Given the description of an element on the screen output the (x, y) to click on. 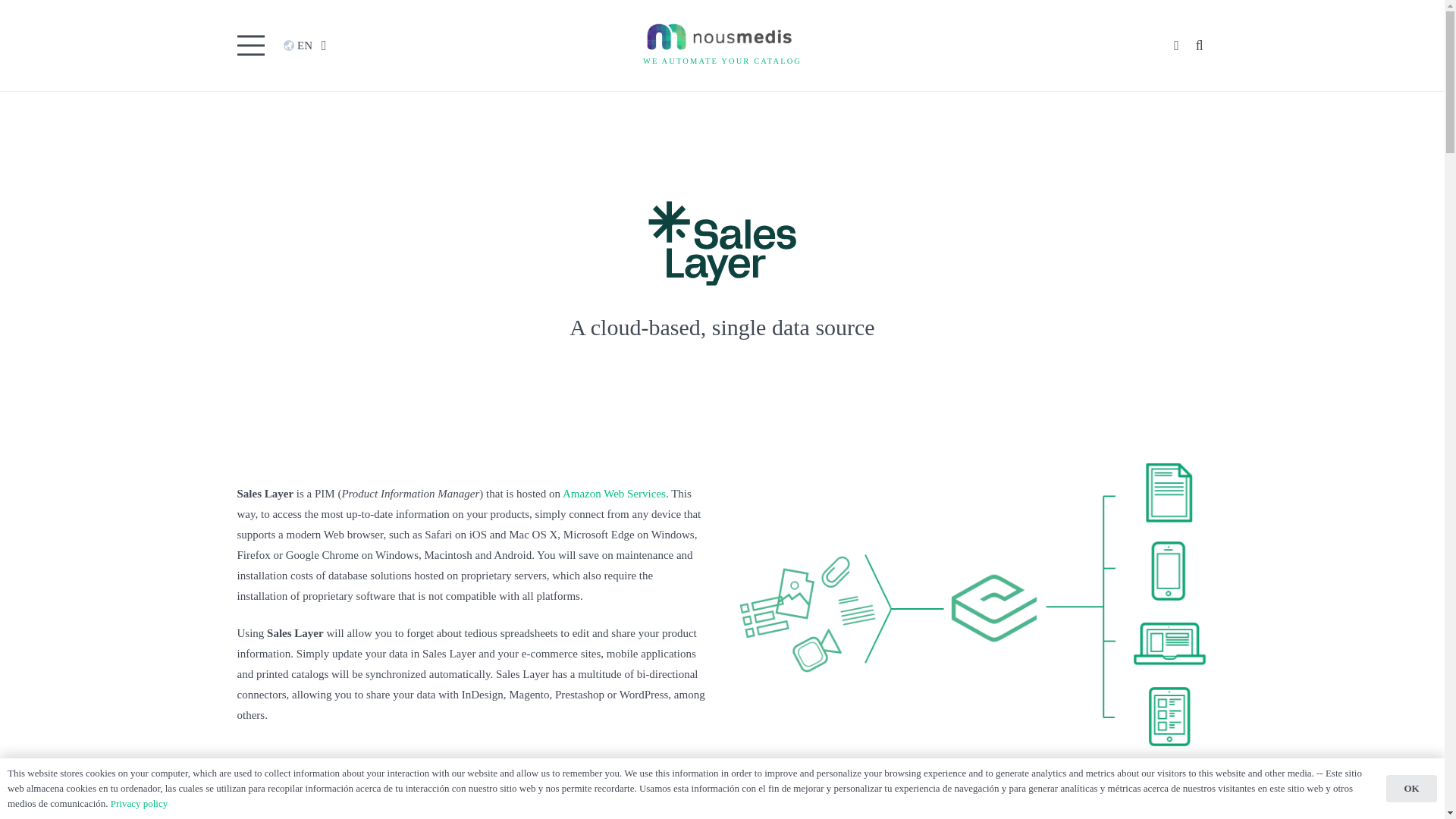
Privacy policy (265, 646)
Who we are (260, 612)
LinkedIn (294, 692)
Twitter (255, 692)
YouTube (331, 692)
EN (310, 45)
Get in touch with us (279, 663)
Amazon Web Services (613, 493)
Publications (260, 629)
About EasyCatalog (532, 612)
